Given the description of an element on the screen output the (x, y) to click on. 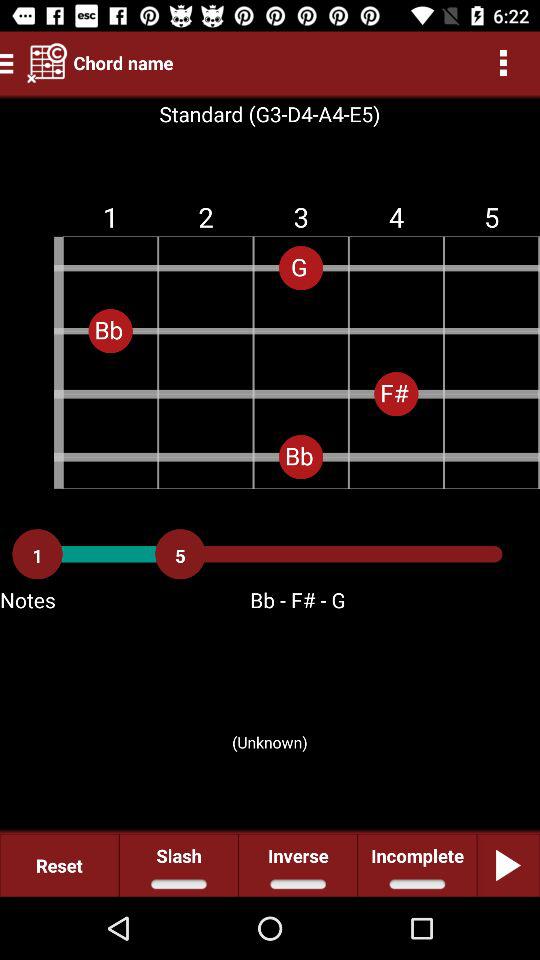
tap the icon next to slash (297, 864)
